Given the description of an element on the screen output the (x, y) to click on. 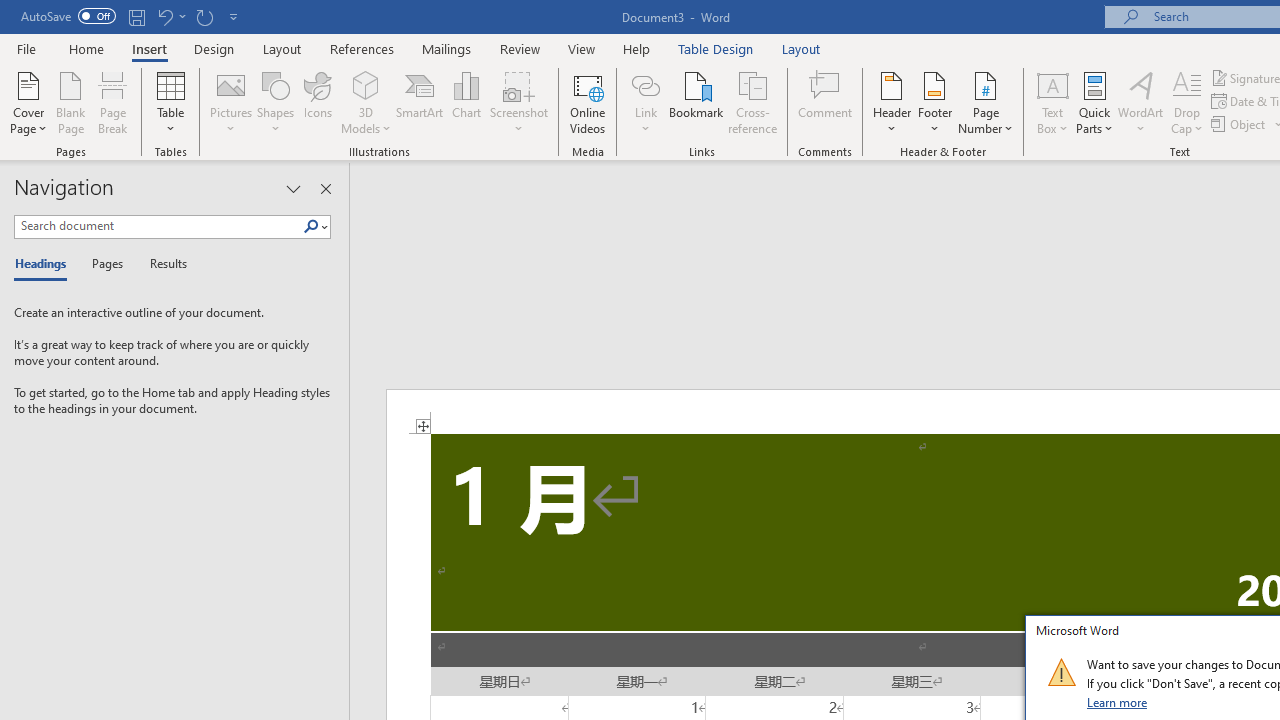
Cover Page (28, 102)
Bookmark... (695, 102)
SmartArt... (419, 102)
Undo Increase Indent (164, 15)
Chart... (466, 102)
Results (161, 264)
Screenshot (518, 102)
